Given the description of an element on the screen output the (x, y) to click on. 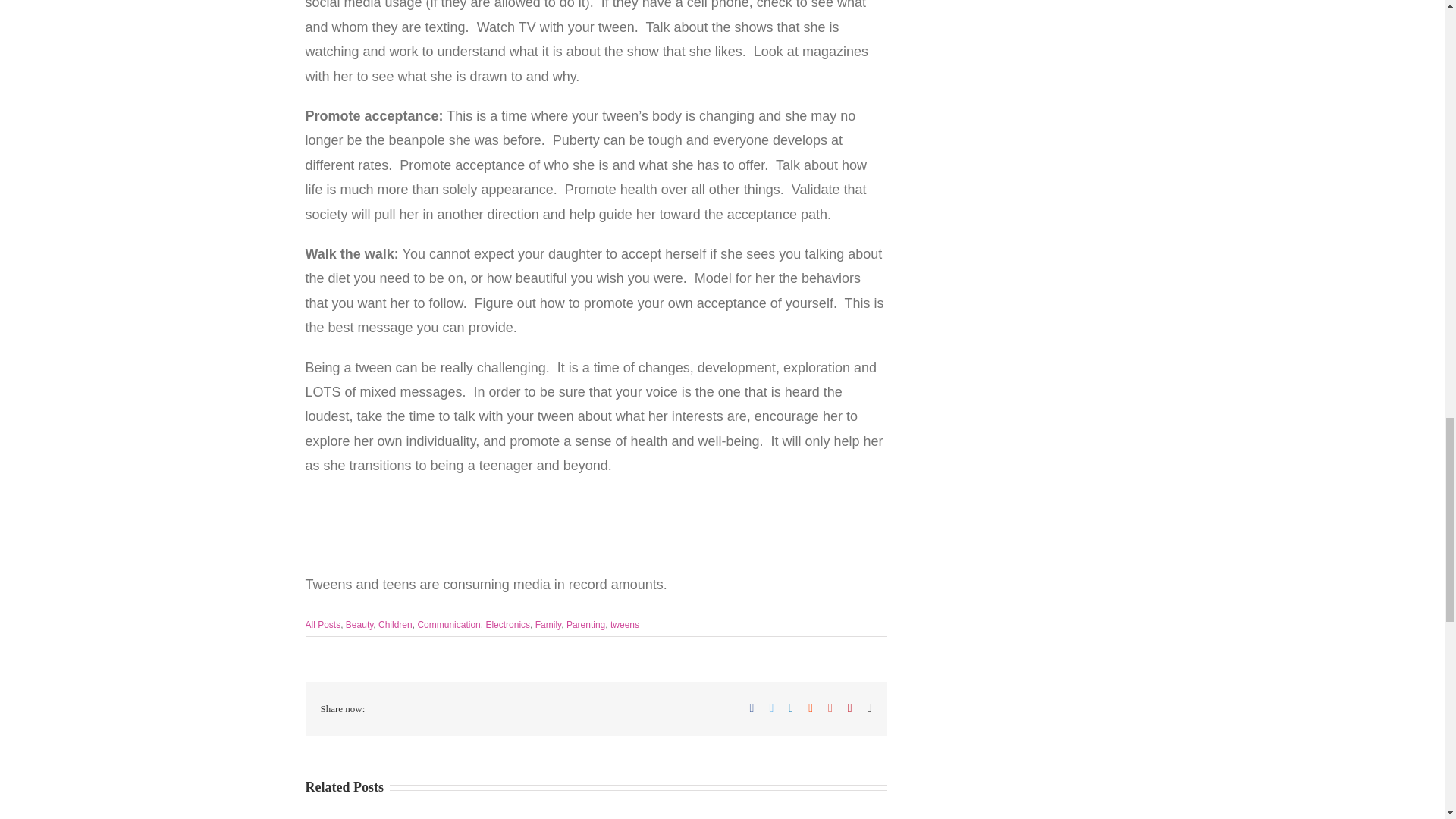
Electronics (506, 624)
Communication (448, 624)
Family (547, 624)
Beauty (359, 624)
Children (395, 624)
Parenting (585, 624)
tweens (624, 624)
All Posts (322, 624)
